Given the description of an element on the screen output the (x, y) to click on. 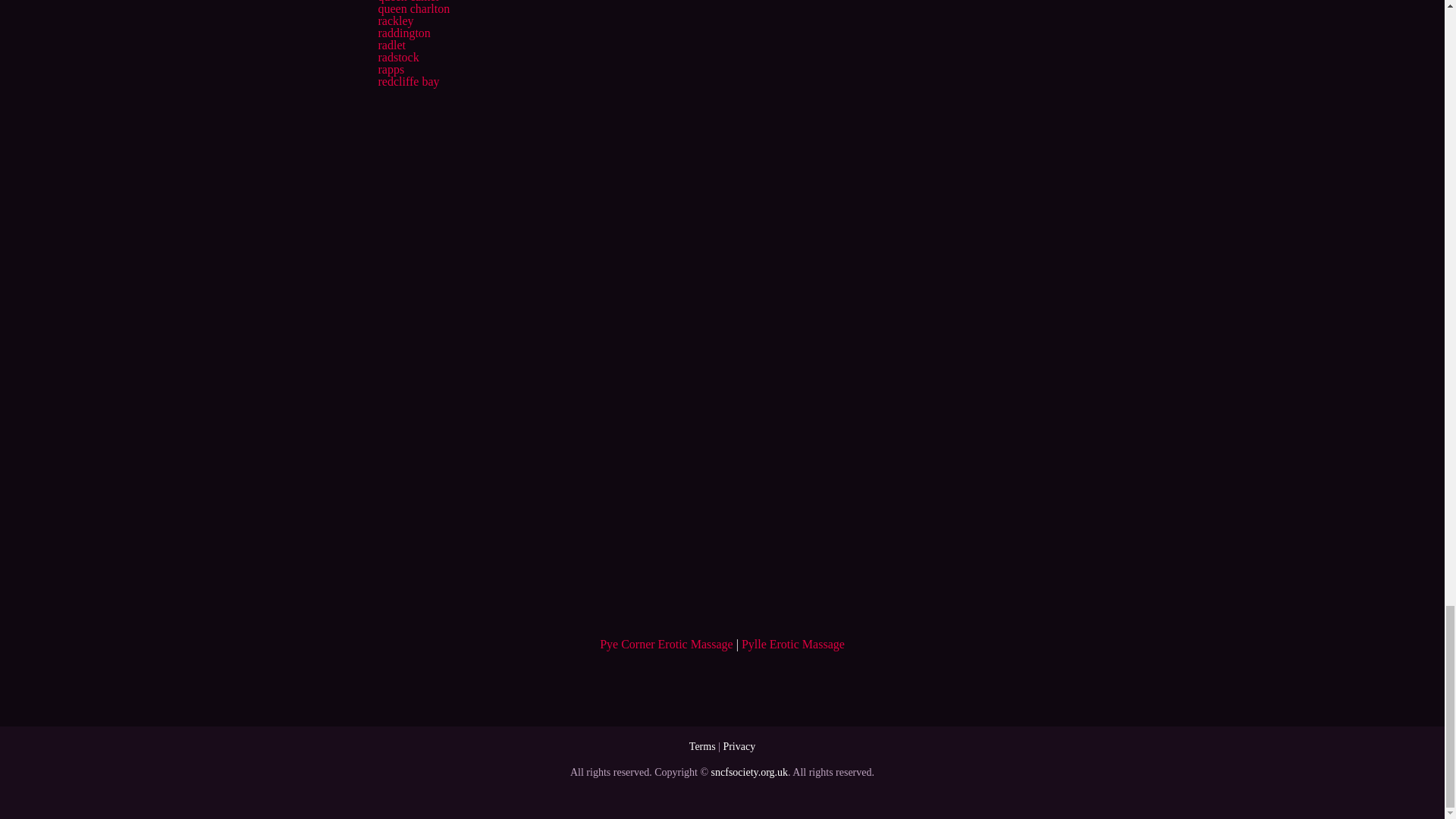
Terms (702, 746)
redcliffe bay (408, 81)
Pye Corner Erotic Massage (666, 644)
Privacy (738, 746)
rackley (395, 20)
radlet (390, 44)
Privacy (738, 746)
Terms (702, 746)
sncfsociety.org.uk (749, 772)
radstock (398, 56)
